Given the description of an element on the screen output the (x, y) to click on. 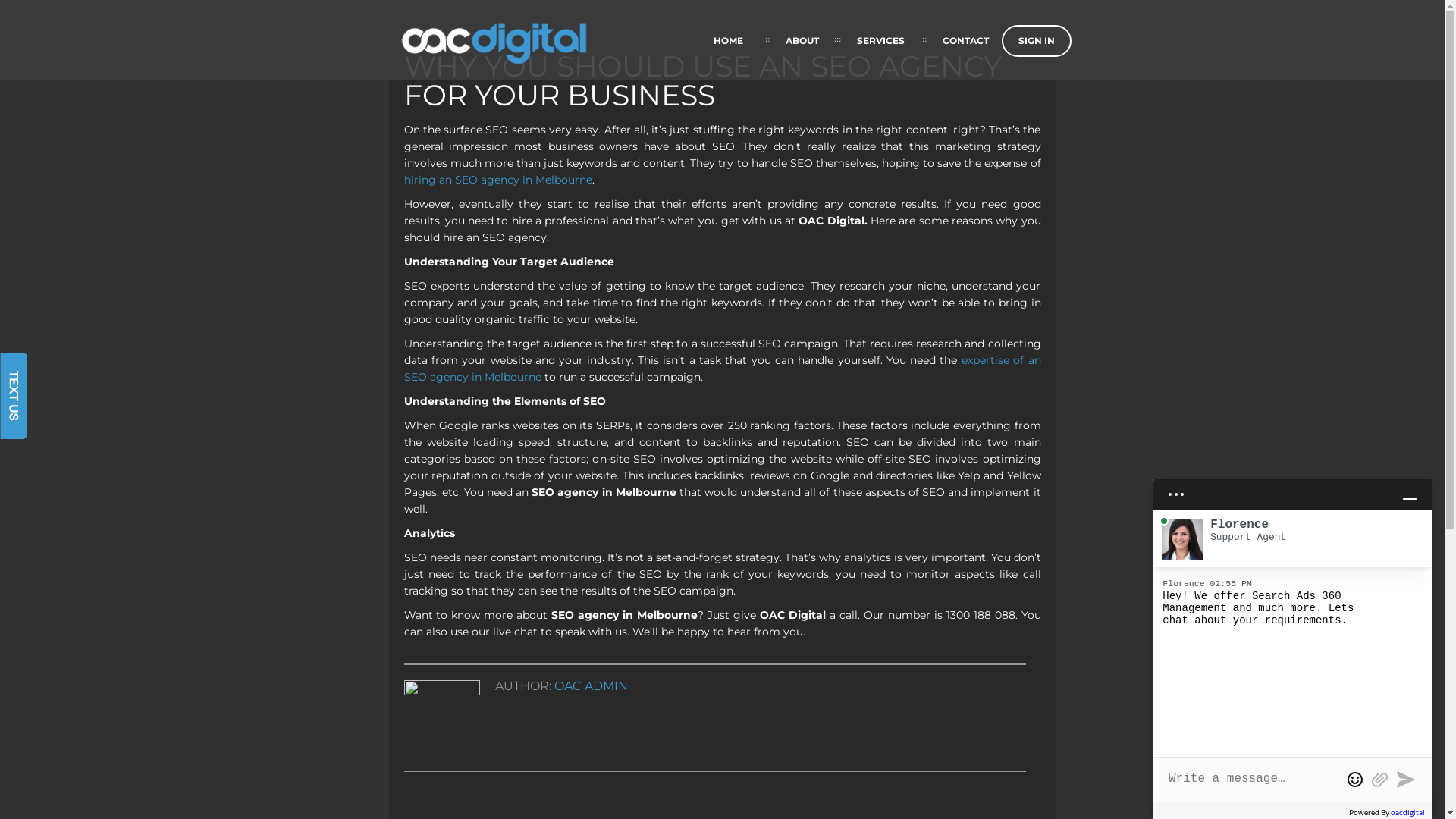
expertise of an SEO agency in Melbourne Element type: text (721, 368)
hiring an SEO agency in Melbourne Element type: text (497, 179)
SERVICES Element type: text (879, 40)
HOME Element type: text (727, 40)
SIGN IN Element type: text (1035, 40)
LiveChat chat widget Element type: hover (1292, 633)
CONTACT Element type: text (965, 40)
OAC ADMIN Element type: text (590, 685)
ABOUT Element type: text (801, 40)
oacdigital Element type: text (1407, 811)
